Given the description of an element on the screen output the (x, y) to click on. 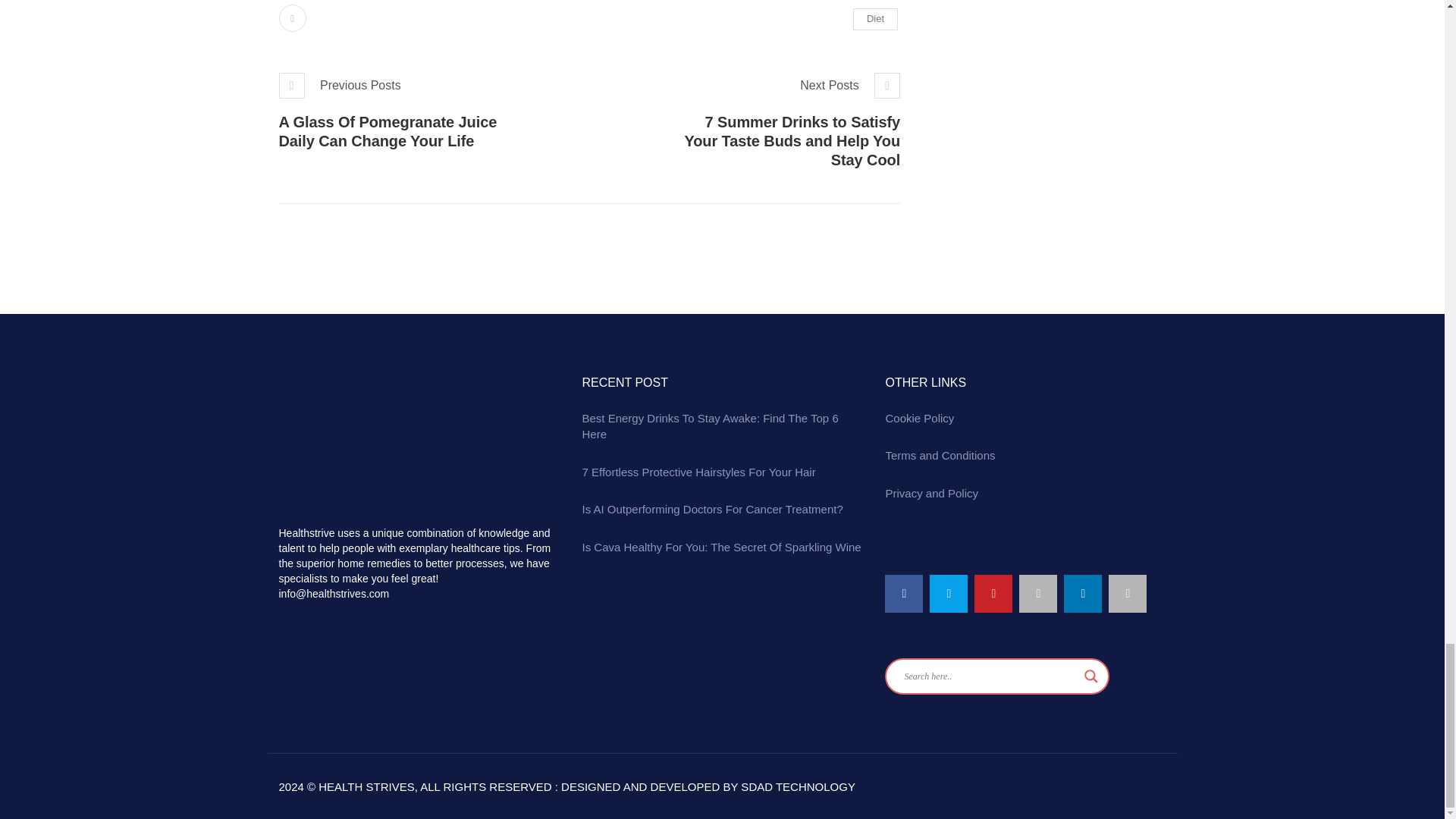
Diet (875, 19)
